Given the description of an element on the screen output the (x, y) to click on. 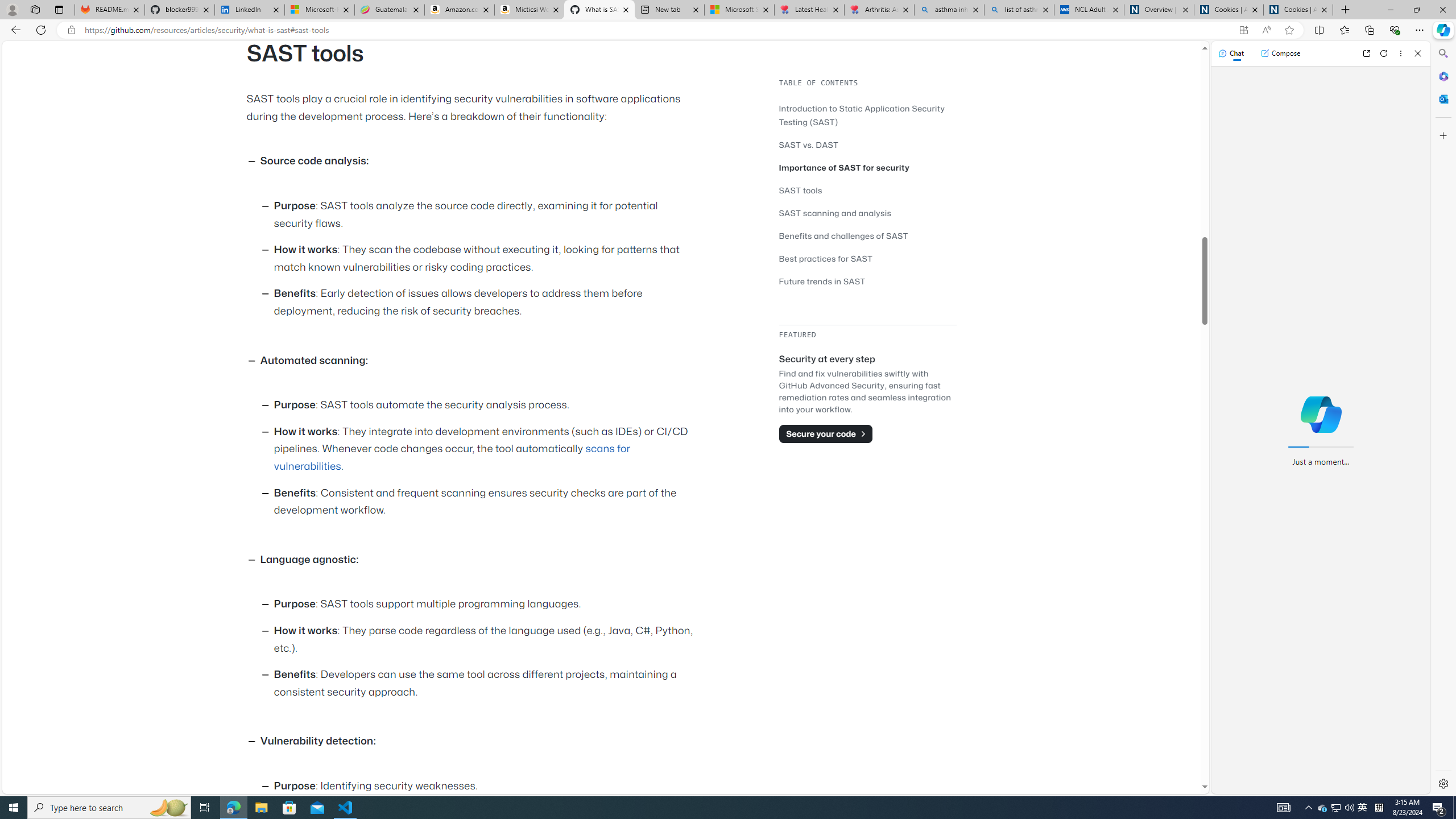
Secure your code (825, 433)
More options (1401, 53)
LinkedIn (249, 9)
list of asthma inhalers uk - Search (1018, 9)
NCL Adult Asthma Inhaler Choice Guideline (1088, 9)
